Given the description of an element on the screen output the (x, y) to click on. 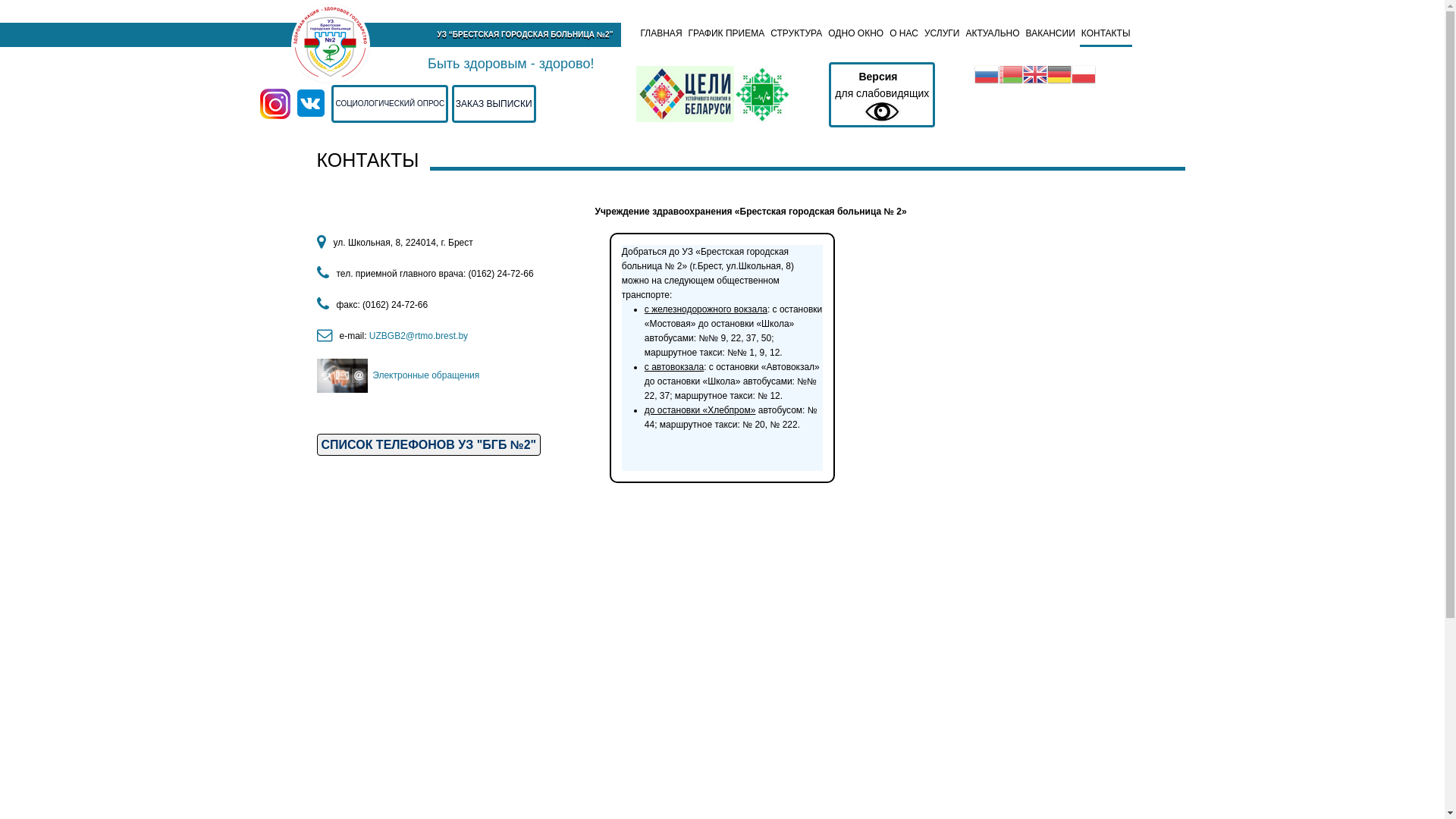
German Element type: hover (1059, 72)
UZBGB2@rtmo.brest.by  Element type: text (419, 335)
Polish Element type: hover (1083, 72)
English Element type: hover (1034, 72)
Russian Element type: hover (986, 72)
Belarusian Element type: hover (1010, 72)
